Given the description of an element on the screen output the (x, y) to click on. 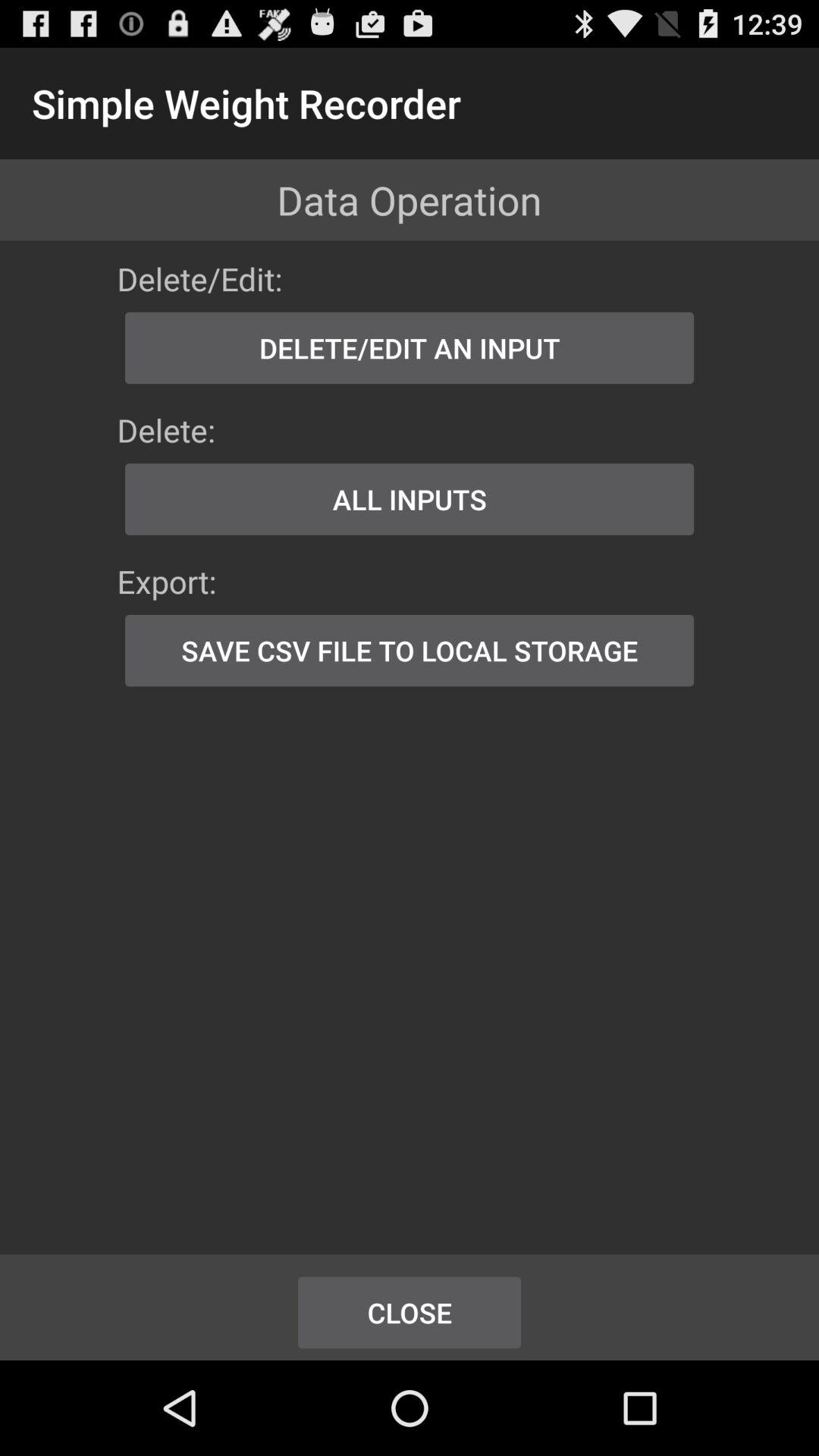
turn off the item below delete: app (409, 499)
